Given the description of an element on the screen output the (x, y) to click on. 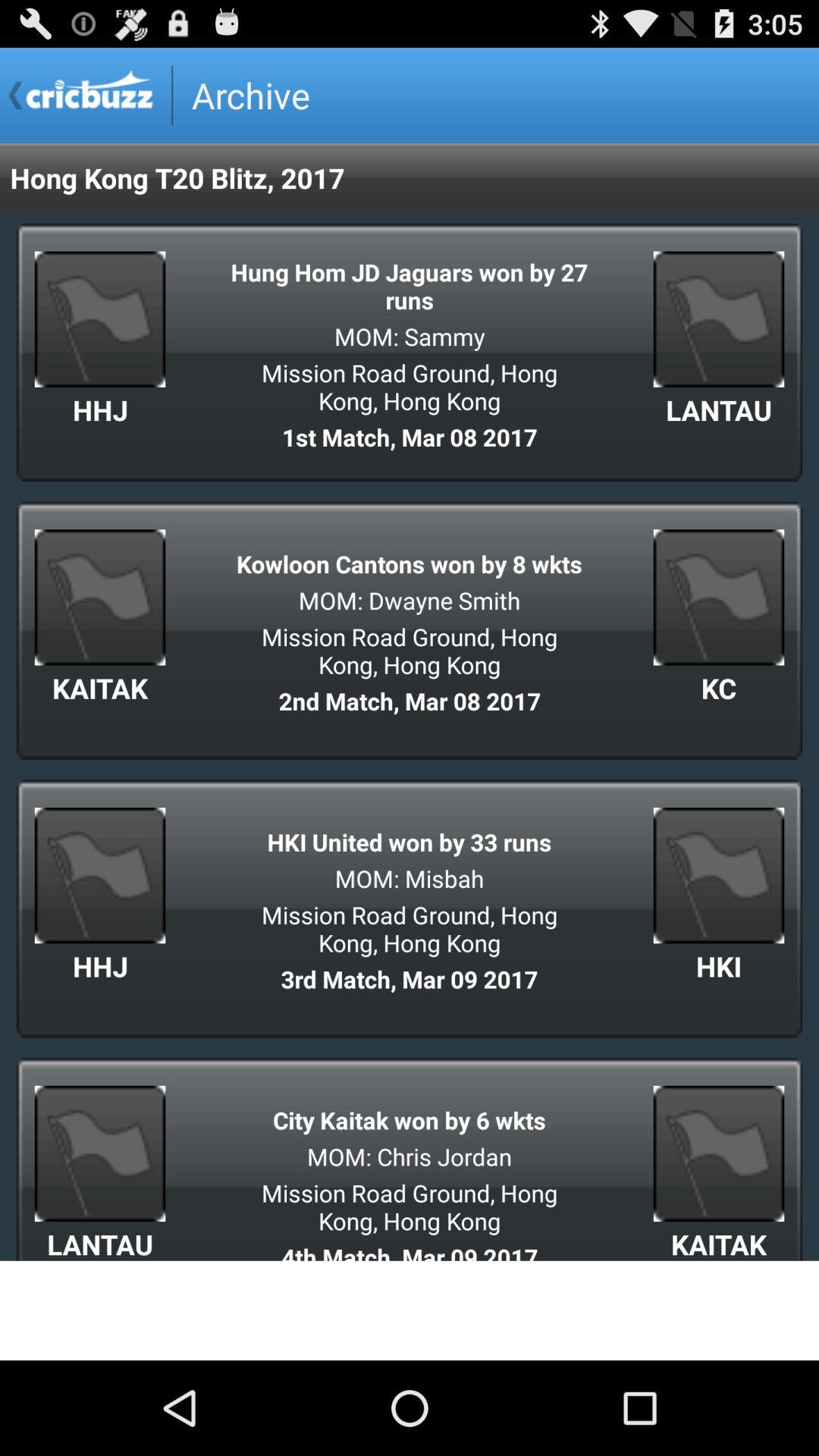
launch the city kaitak won icon (409, 1119)
